Given the description of an element on the screen output the (x, y) to click on. 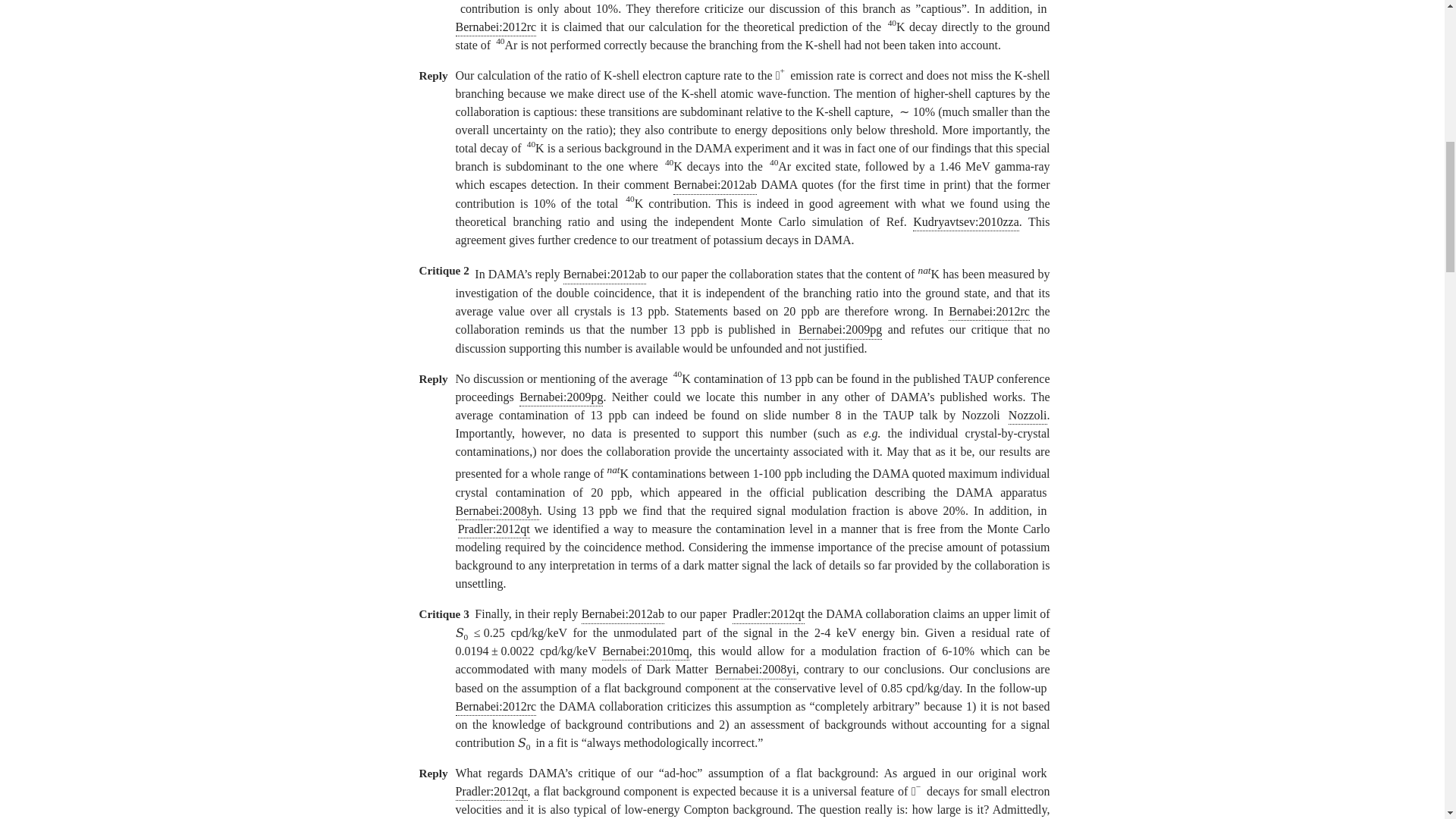
Bernabei:2012rc (494, 27)
Pradler:2012qt (490, 791)
Nozzoli (1027, 416)
Pradler:2012qt (768, 614)
Bernabei:2008yi (755, 669)
Bernabei:2010mq (645, 651)
Bernabei:2009pg (839, 330)
Pradler:2012qt (493, 529)
Kudryavtsev:2010zza (965, 221)
Bernabei:2009pg (560, 397)
Bernabei:2012rc (989, 312)
Bernabei:2012ab (621, 614)
Bernabei:2012ab (713, 185)
Bernabei:2012rc (494, 706)
Bernabei:2008yh (496, 511)
